Given the description of an element on the screen output the (x, y) to click on. 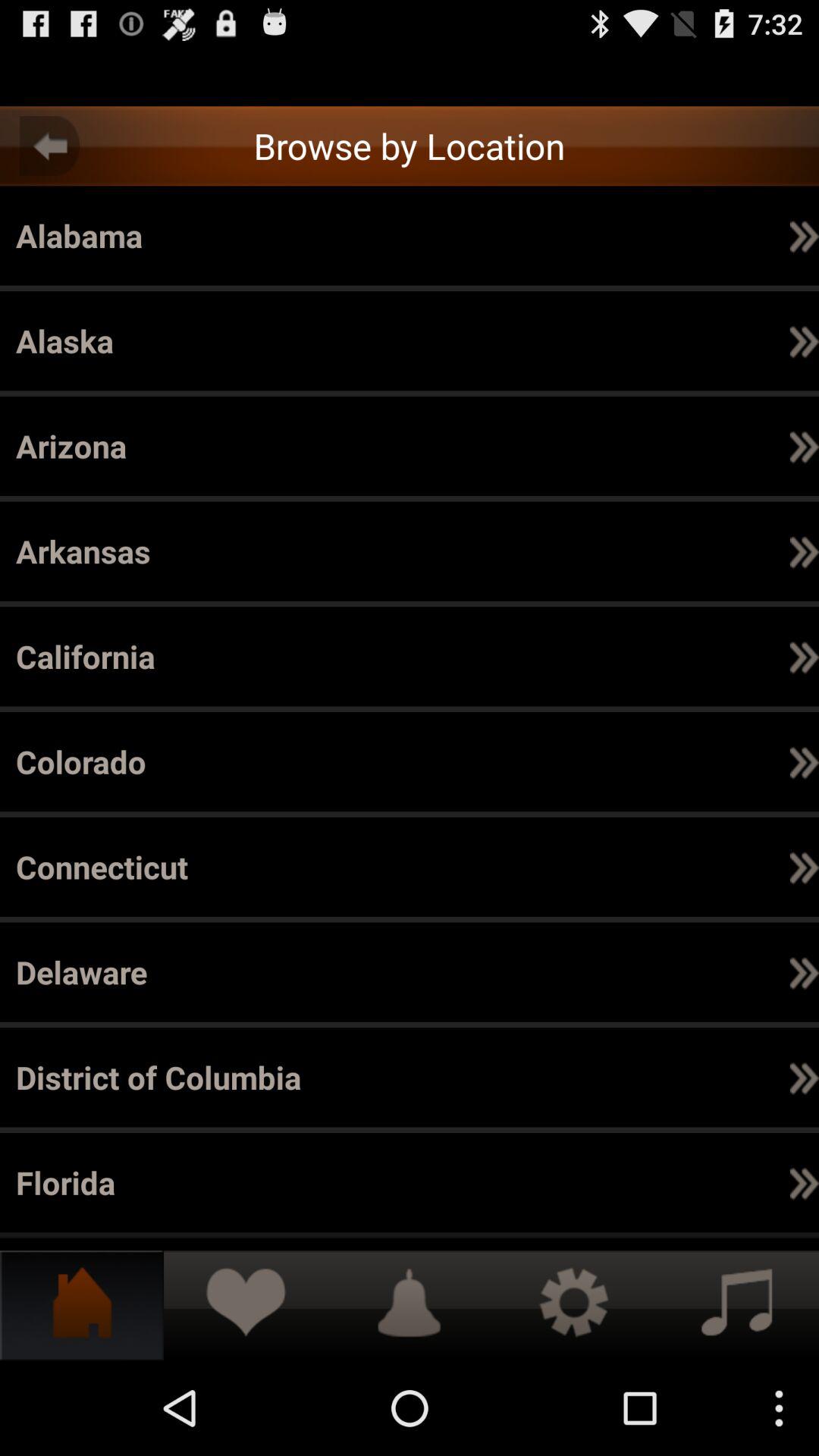
turn off the item next to   alameda icon (658, 235)
